Given the description of an element on the screen output the (x, y) to click on. 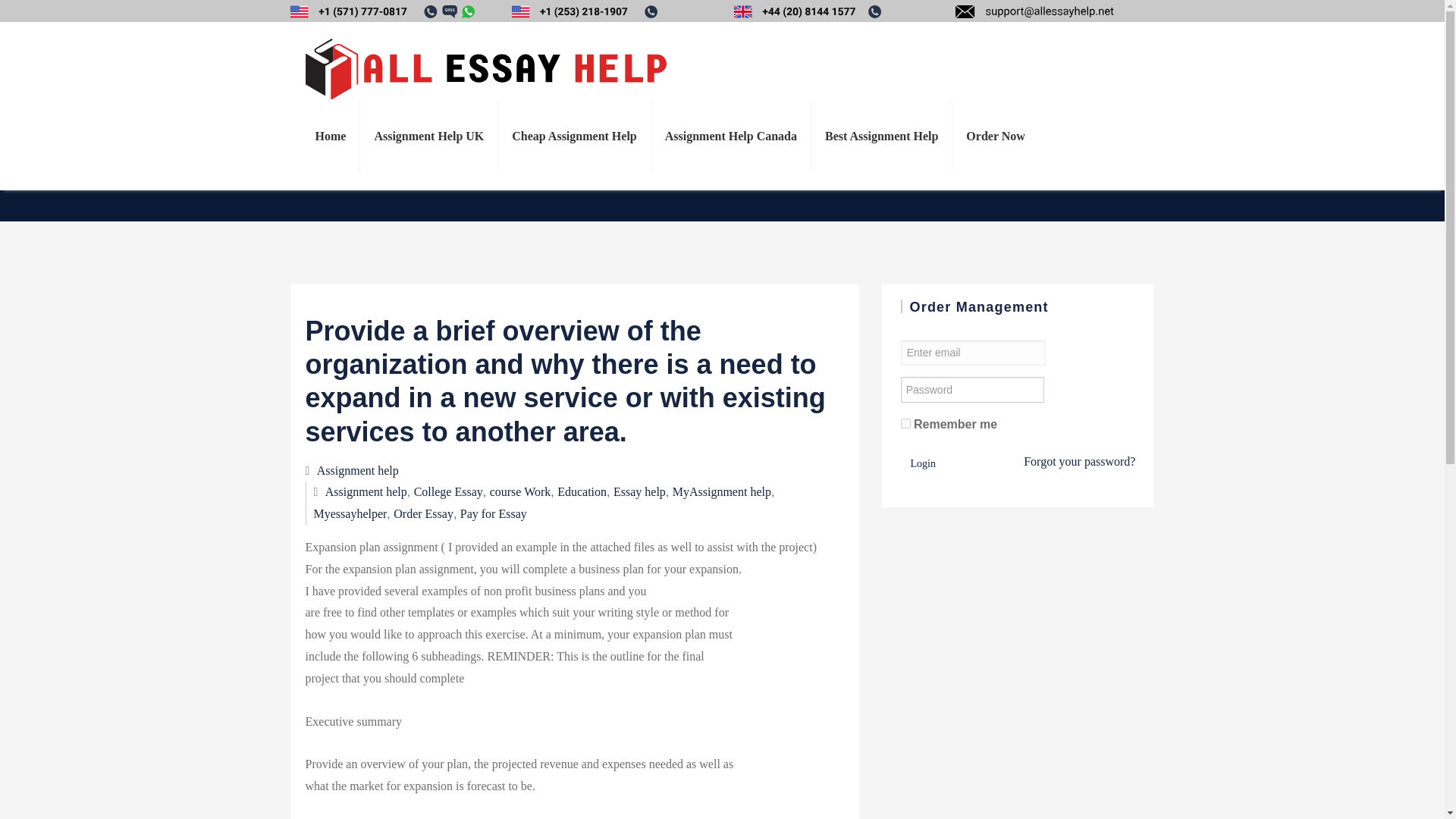
Order Now (995, 136)
click to Login (922, 463)
Assignment Help  UK (428, 136)
Pay for Essay (493, 550)
Assignment help (365, 789)
Forgot your password? (1079, 463)
Login (922, 467)
Assignment Help UK (428, 136)
College Essay (448, 726)
Order Now (995, 136)
